Given the description of an element on the screen output the (x, y) to click on. 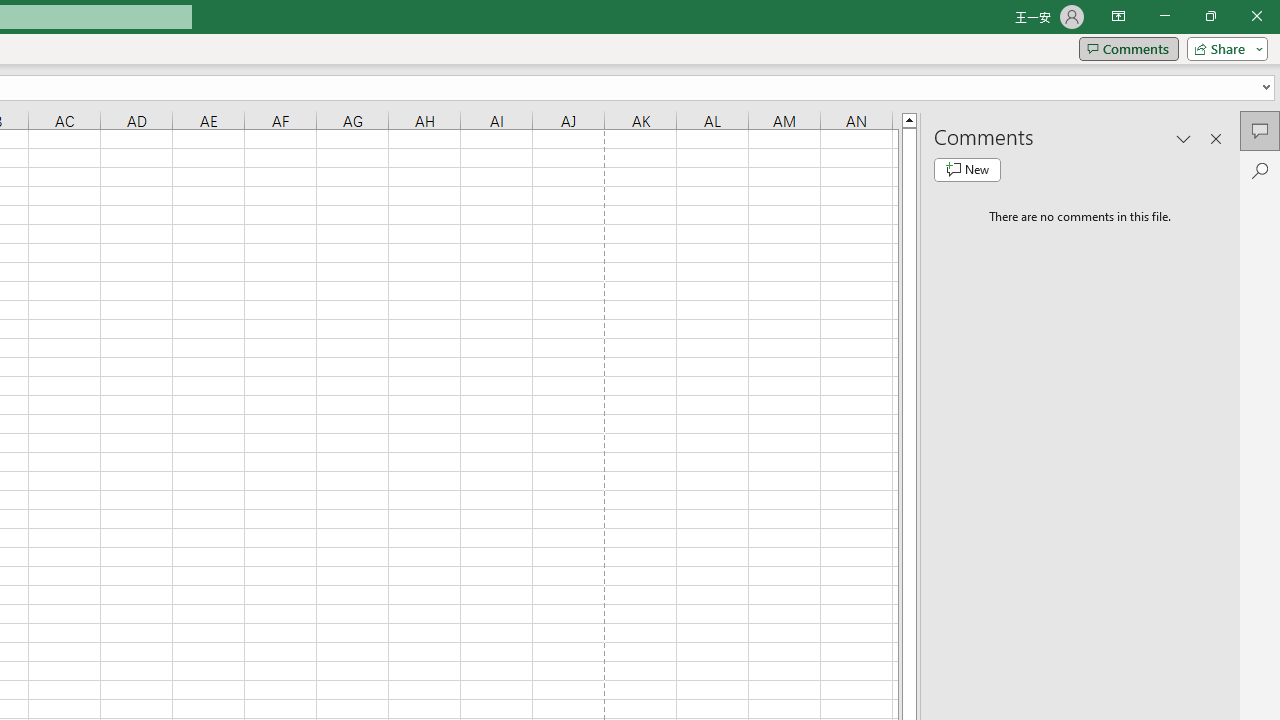
New comment (967, 169)
